Given the description of an element on the screen output the (x, y) to click on. 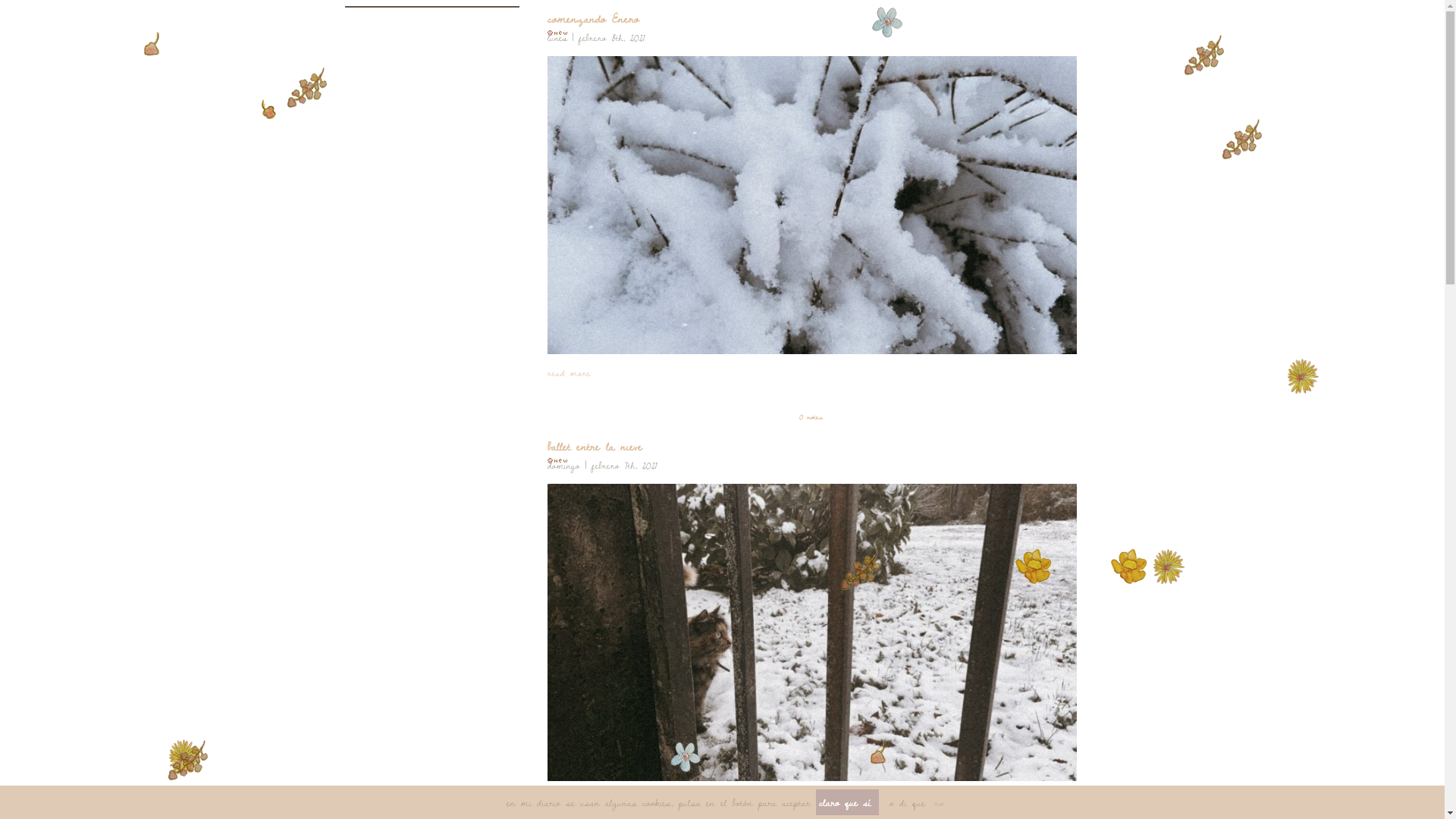
no Element type: text (937, 802)
read more Element type: text (568, 372)
0 notes Element type: text (812, 416)
comenzando Enero Element type: text (593, 18)
read more Element type: text (568, 799)
ballet entre la nieve Element type: text (594, 446)
